Given the description of an element on the screen output the (x, y) to click on. 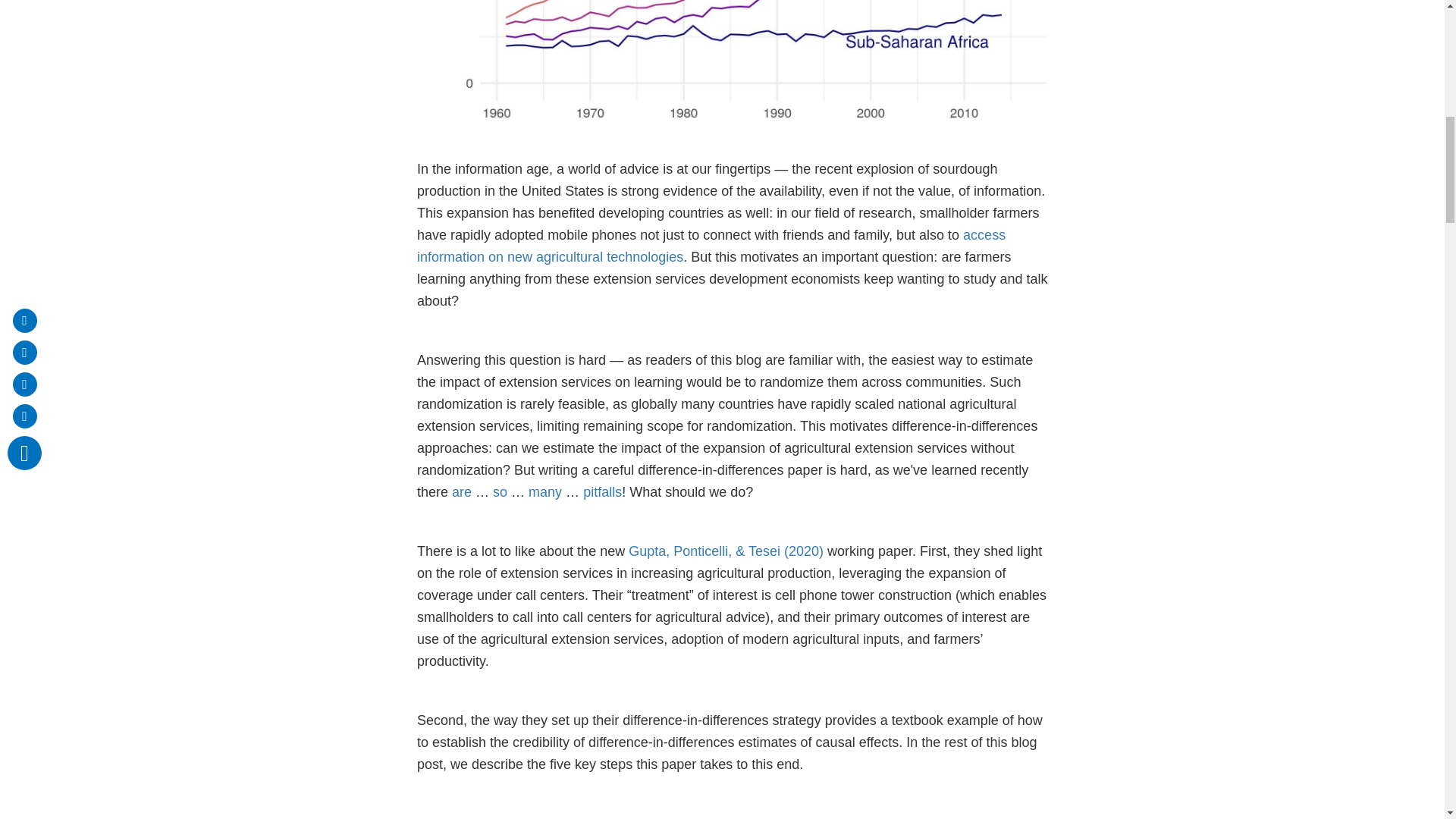
many (545, 491)
Gupta (646, 550)
Tesei (762, 550)
, (667, 550)
pitfalls (602, 491)
Ponticelli (698, 550)
are (461, 491)
access information on new agricultural technologies (711, 245)
so (499, 491)
